Given the description of an element on the screen output the (x, y) to click on. 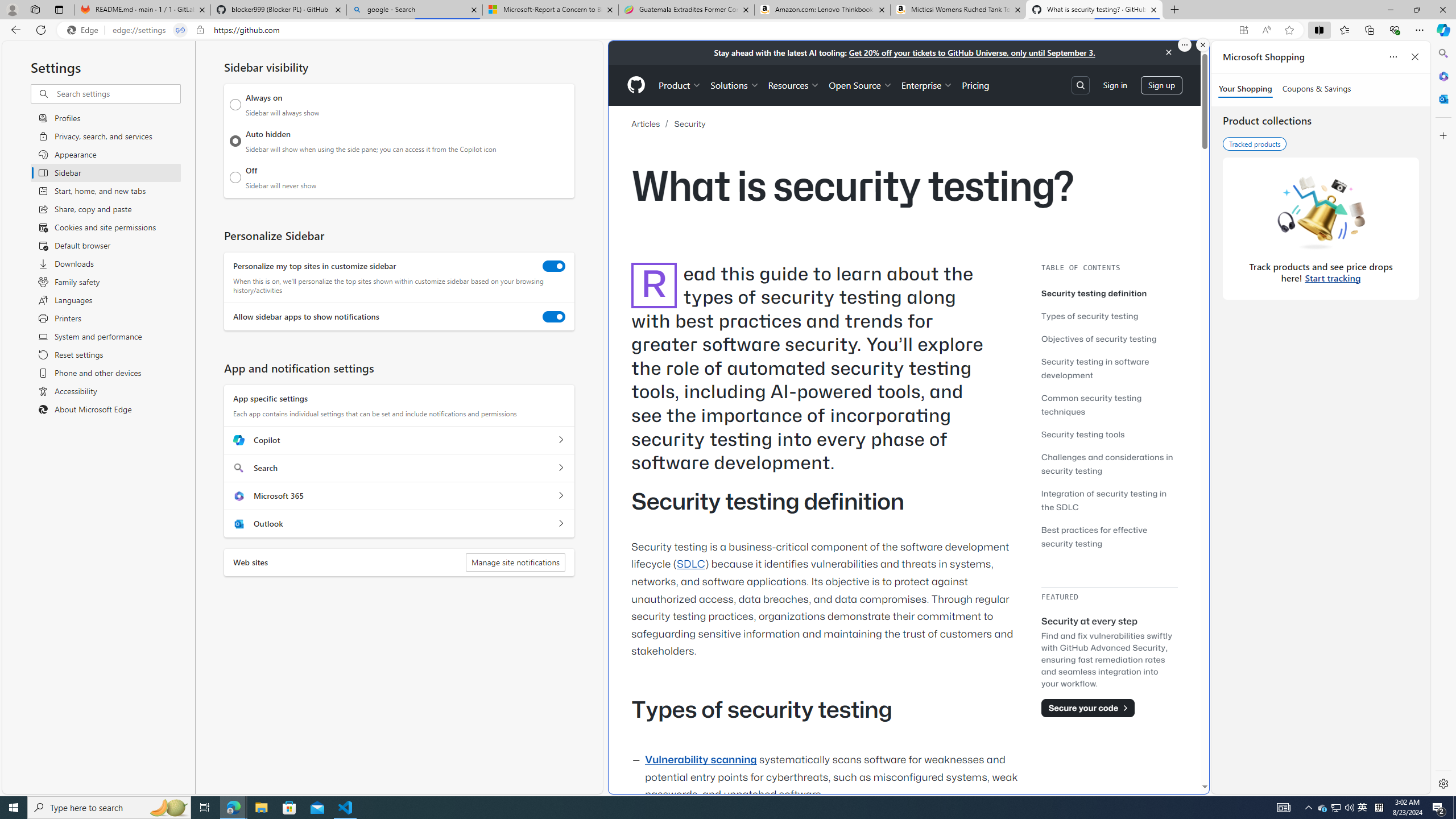
Resources (793, 84)
Secure your code (1088, 707)
Enterprise (927, 84)
Allow sidebar apps to show notifications (553, 316)
Best practices for effective security testing (1094, 535)
Pricing (975, 84)
More options. (1183, 45)
Security (690, 123)
